Given the description of an element on the screen output the (x, y) to click on. 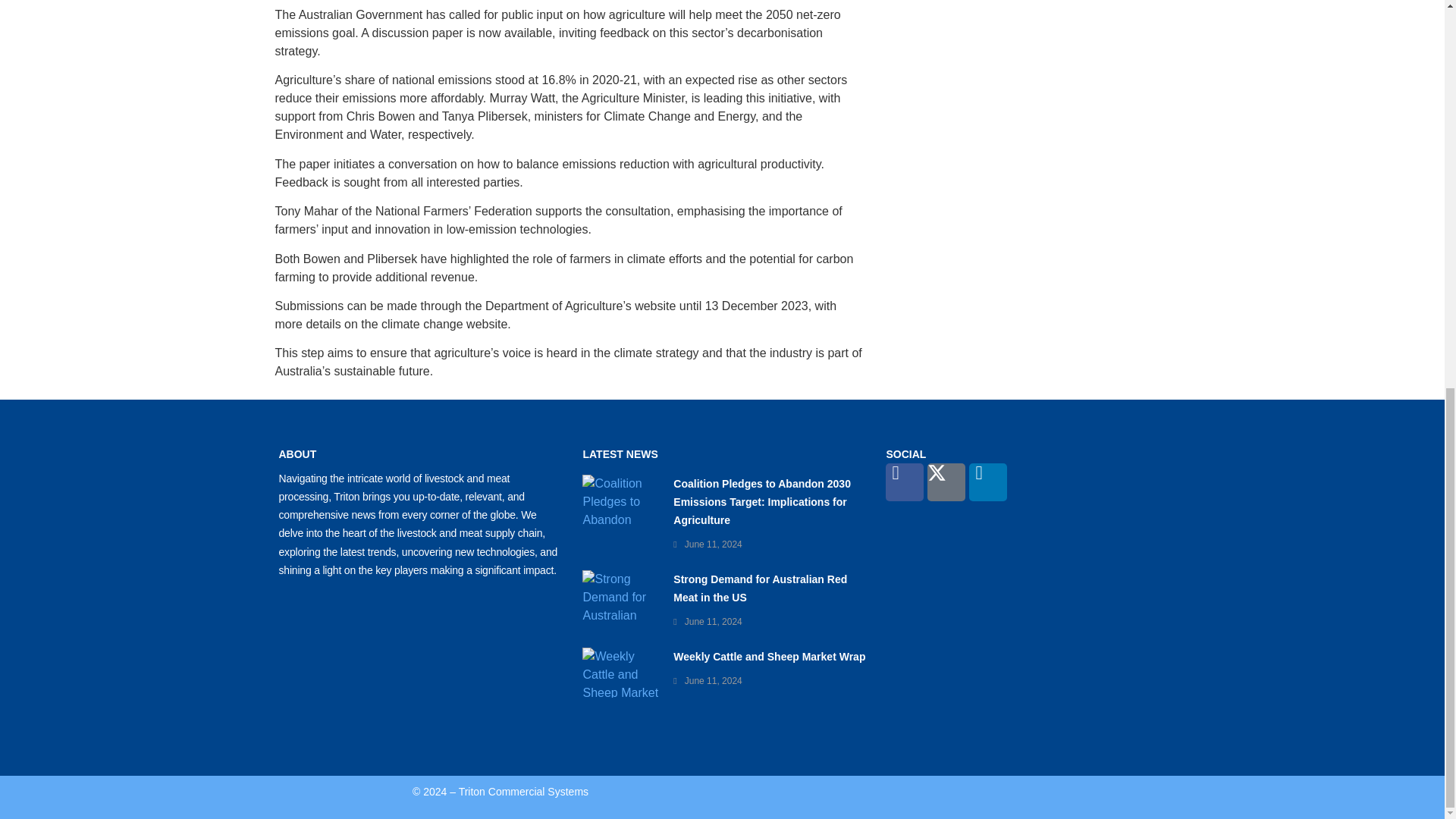
June 11, 2024 (713, 621)
Strong Demand for Australian Red Meat in the US (759, 588)
Weekly Cattle and Sheep Market Wrap (768, 656)
June 11, 2024 (713, 543)
June 11, 2024 (713, 680)
